Given the description of an element on the screen output the (x, y) to click on. 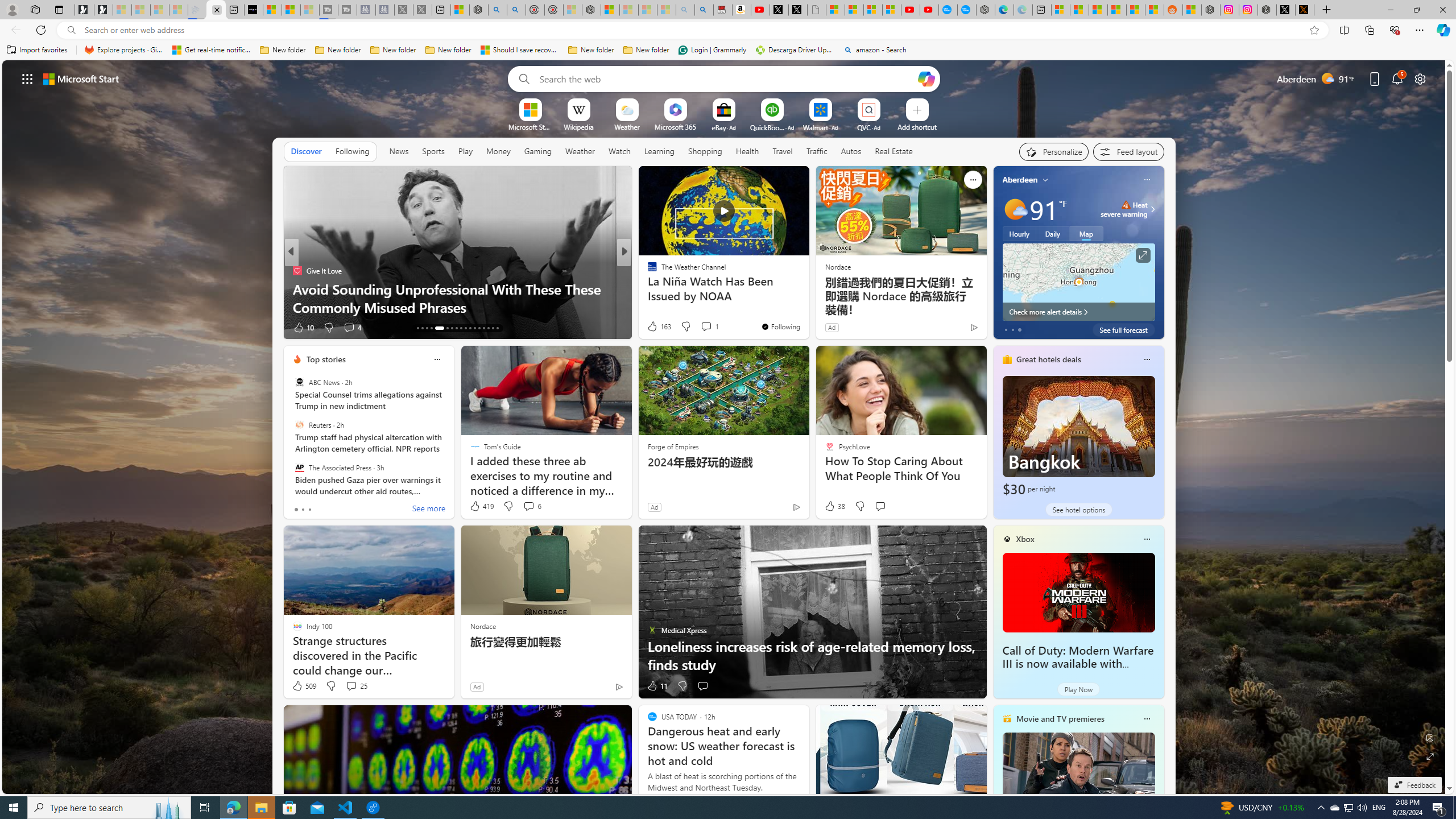
The Telegraph (647, 270)
Feed settings (1128, 151)
Movie and TV premieres (1060, 718)
14 Like (652, 327)
48 Like (652, 327)
Search icon (70, 29)
AutomationID: tab-13 (417, 328)
See full forecast (1123, 329)
AutomationID: tab-53 (497, 328)
